Given the description of an element on the screen output the (x, y) to click on. 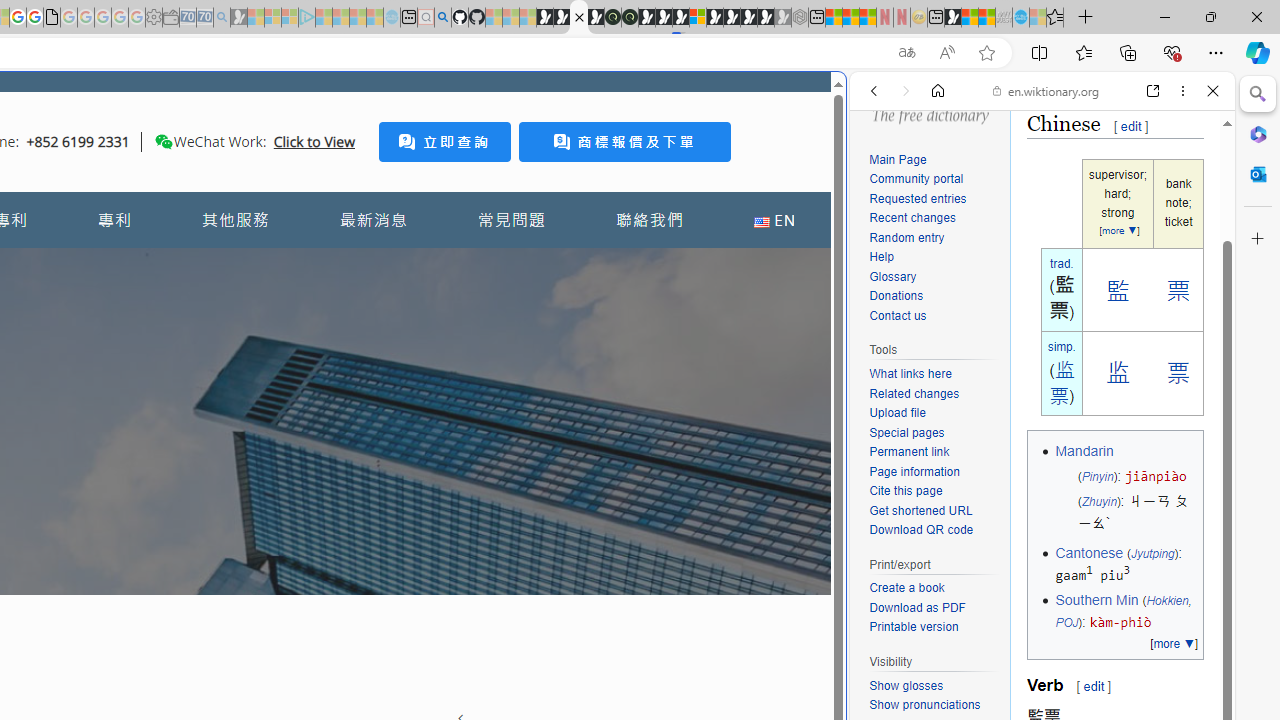
Services - Maintenance | Sky Blue Bikes - Sky Blue Bikes (1020, 17)
Download as PDF (934, 608)
World - MSN (969, 17)
Printable version (913, 627)
SEARCH TOOLS (1093, 228)
github - Search (442, 17)
Play Zoo Boom in your browser | Games from Microsoft Start (561, 17)
Cantonese (1088, 552)
Special pages (934, 433)
